Given the description of an element on the screen output the (x, y) to click on. 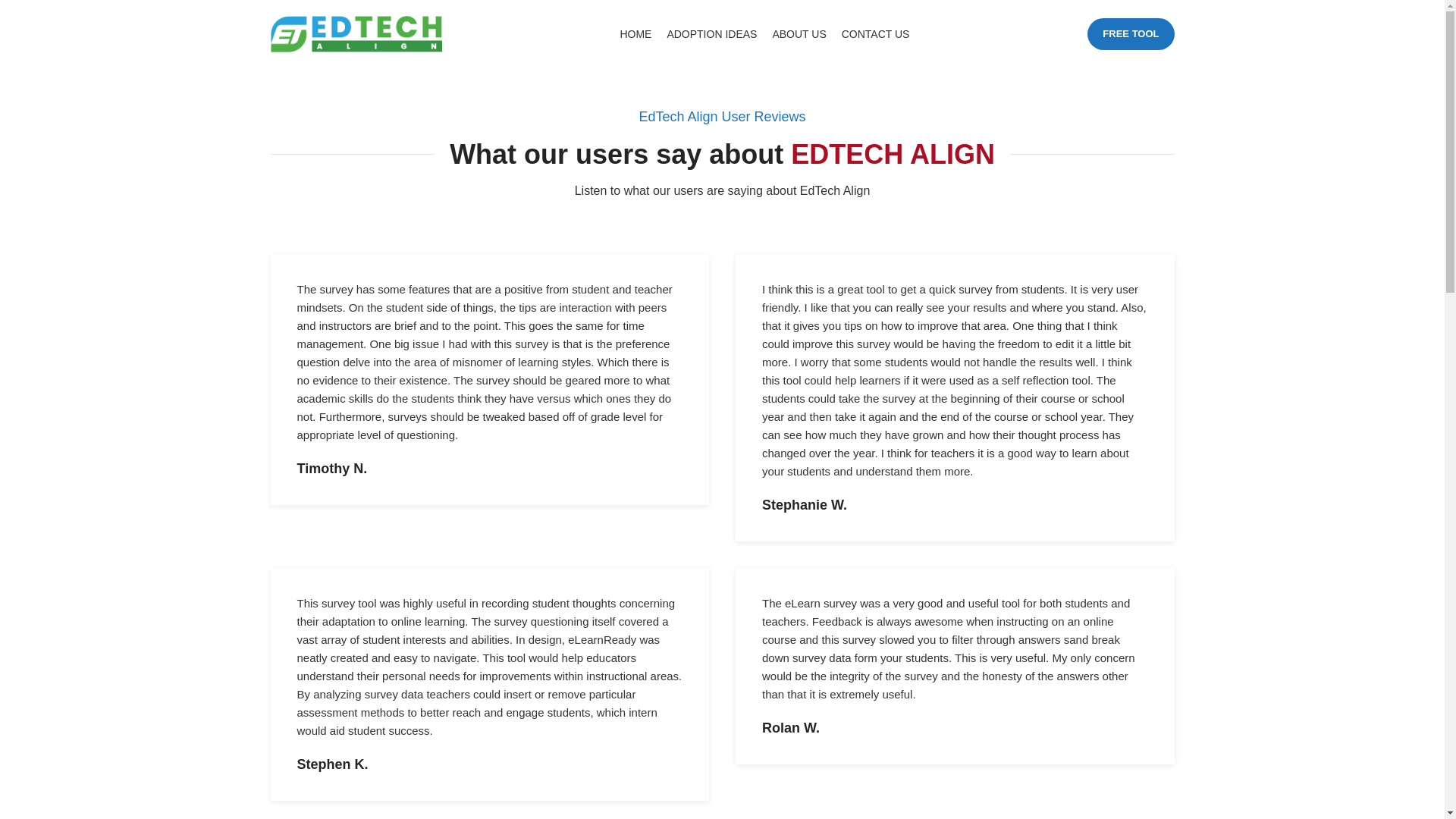
FREE TOOL (1130, 33)
ABOUT US (798, 33)
HOME (635, 33)
CONTACT US (875, 33)
ADOPTION IDEAS (711, 33)
